Given the description of an element on the screen output the (x, y) to click on. 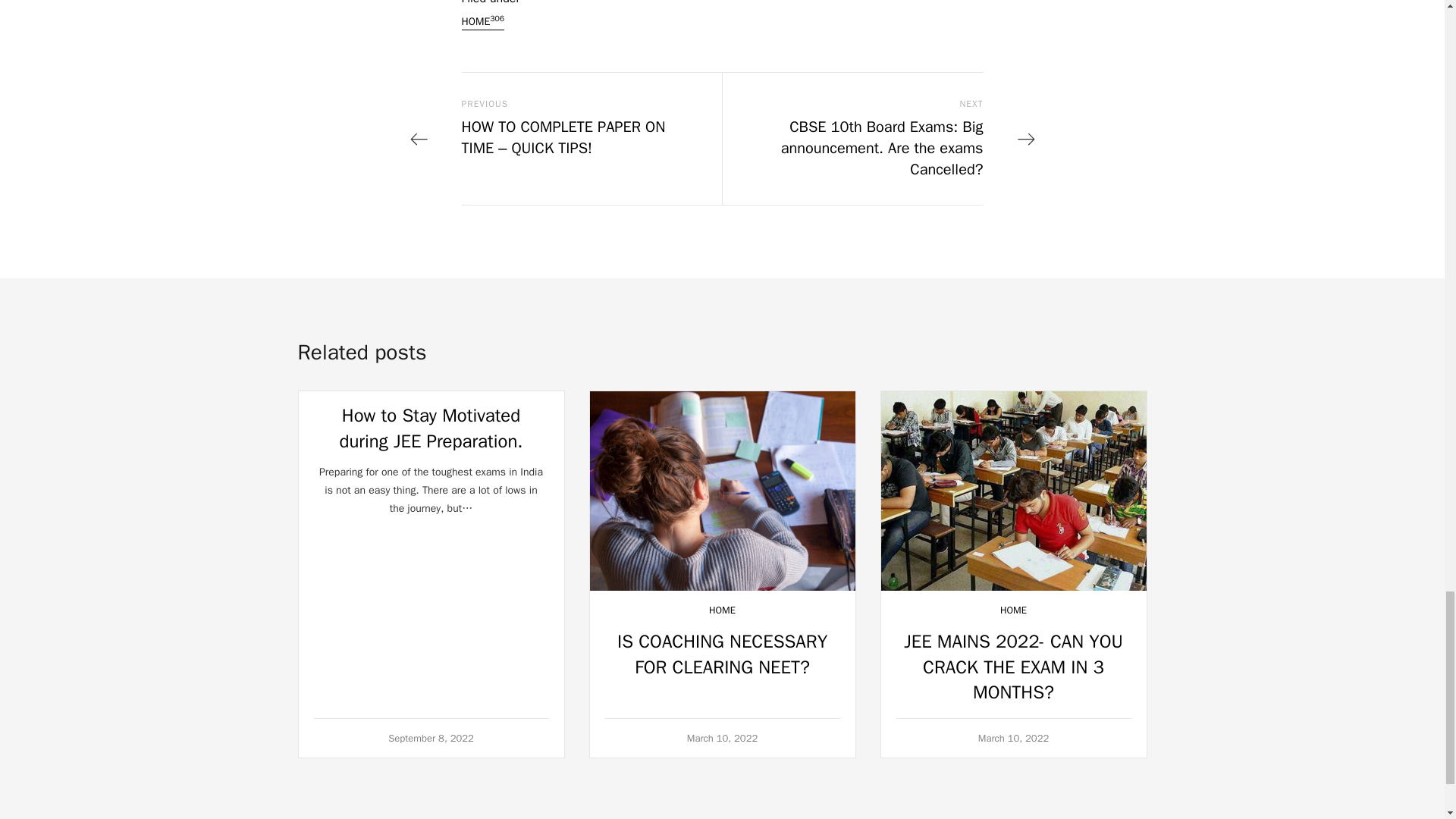
View all posts in home (1013, 609)
How to Stay Motivated during JEE Preparation. (430, 428)
IS COACHING NECESSARY FOR CLEARING NEET? (722, 653)
March 10, 2022 (1013, 738)
September 8, 2022 (431, 738)
JEE MAINS 2022- CAN YOU CRACK THE EXAM IN 3 MONTHS? (1013, 666)
View all posts in home (722, 609)
View all posts in home (482, 21)
HOME306 (482, 21)
HOME (1013, 609)
March 10, 2022 (722, 738)
HOME (722, 609)
